Given the description of an element on the screen output the (x, y) to click on. 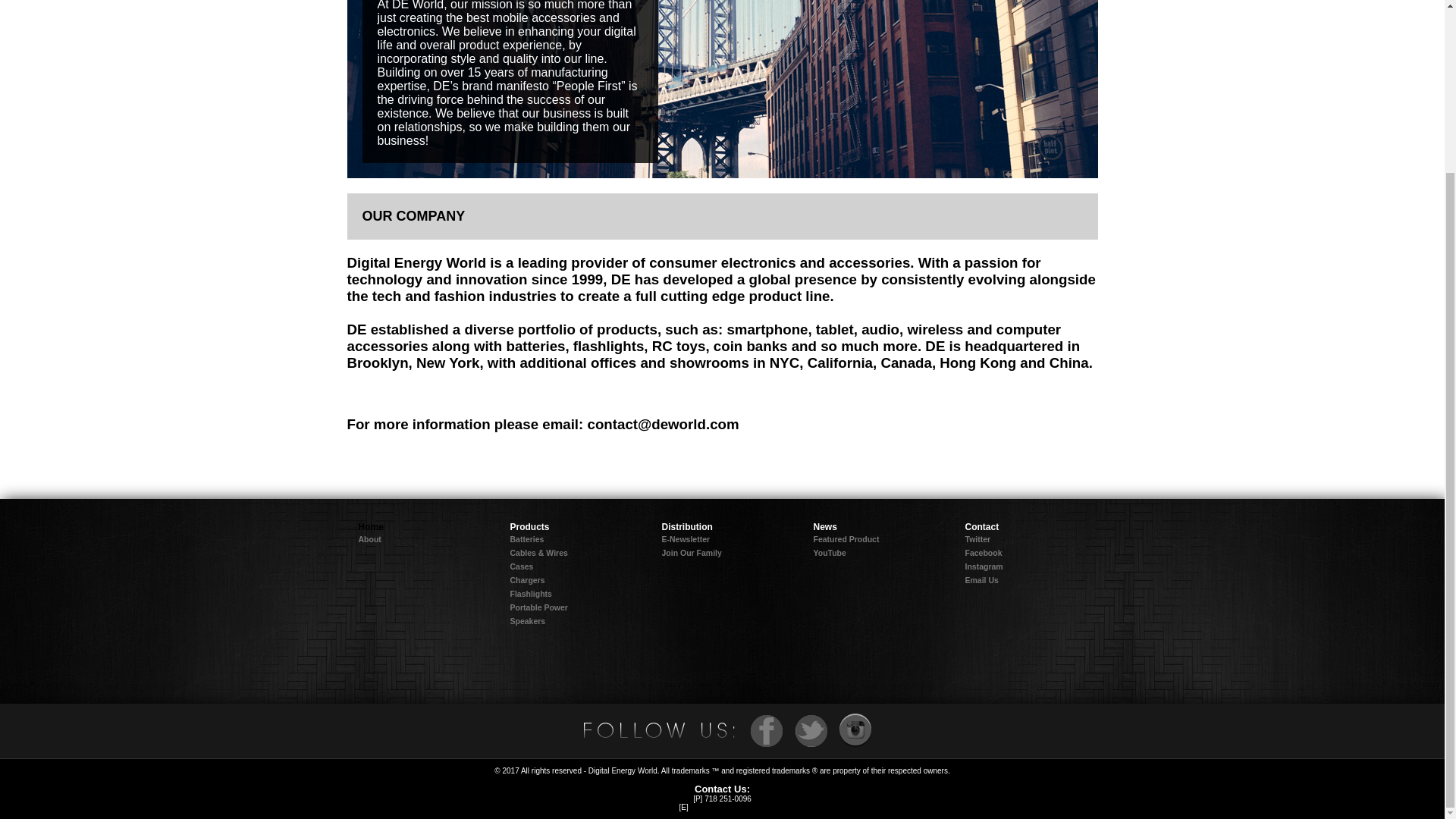
Join Our Family (690, 552)
Distribution (686, 526)
Featured Product (845, 538)
E-Newsletter (685, 538)
Home (370, 526)
Twitter (976, 538)
Speakers (526, 620)
Chargers (526, 579)
Instagram (983, 565)
Portable Power (538, 606)
